Given the description of an element on the screen output the (x, y) to click on. 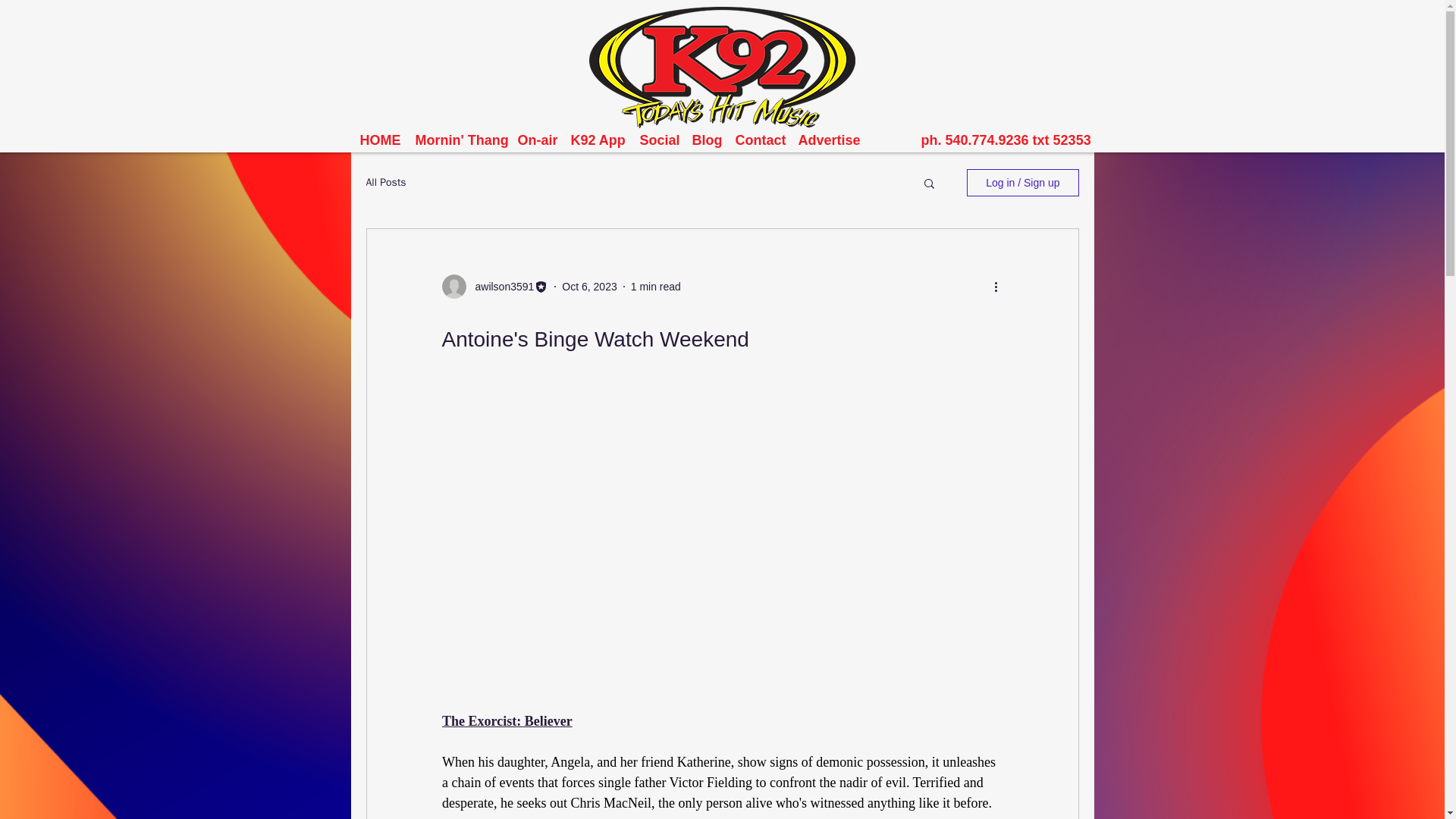
awilson3591 (499, 286)
K92 App (596, 138)
HOME (379, 138)
Oct 6, 2023 (588, 286)
Mornin' Thang (459, 138)
Advertise (826, 138)
All Posts (385, 182)
Contact (759, 138)
Blog (705, 138)
Social (657, 138)
On-air (535, 138)
1 min read (655, 286)
